Given the description of an element on the screen output the (x, y) to click on. 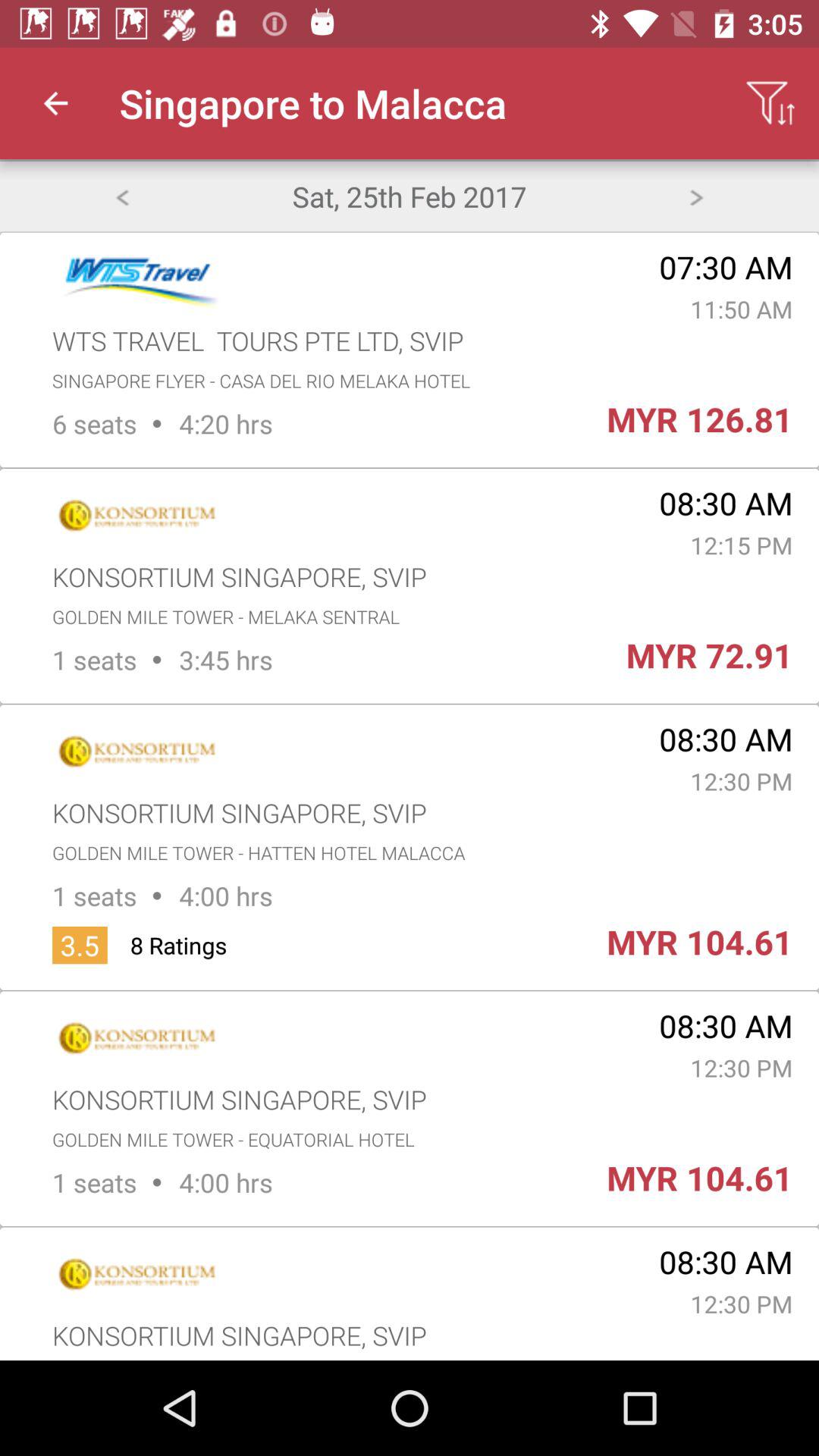
select the item to the right of singapore to malacca item (770, 103)
